Given the description of an element on the screen output the (x, y) to click on. 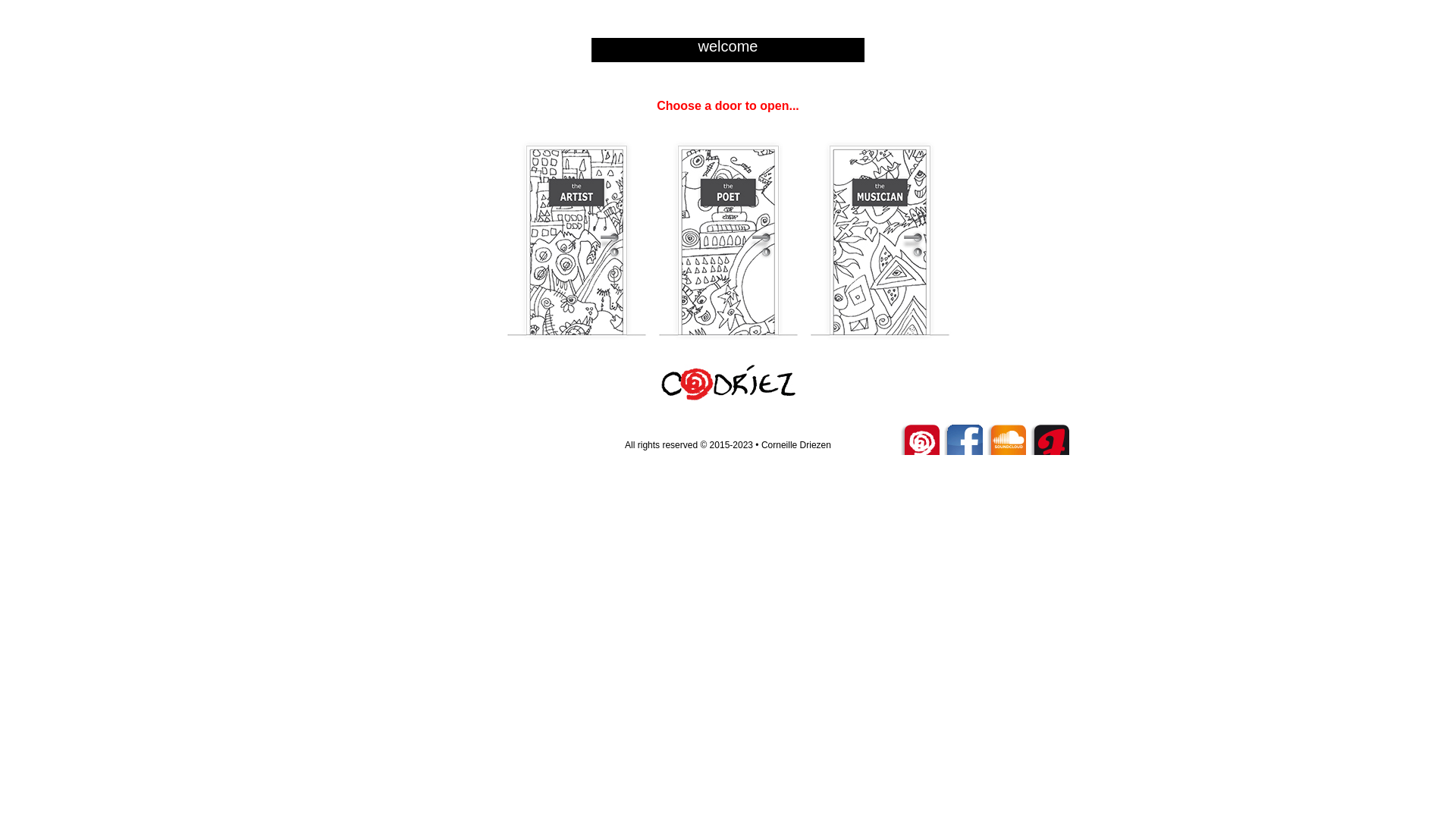
welcome Element type: text (728, 45)
Corneille Driezen Element type: text (796, 444)
